Given the description of an element on the screen output the (x, y) to click on. 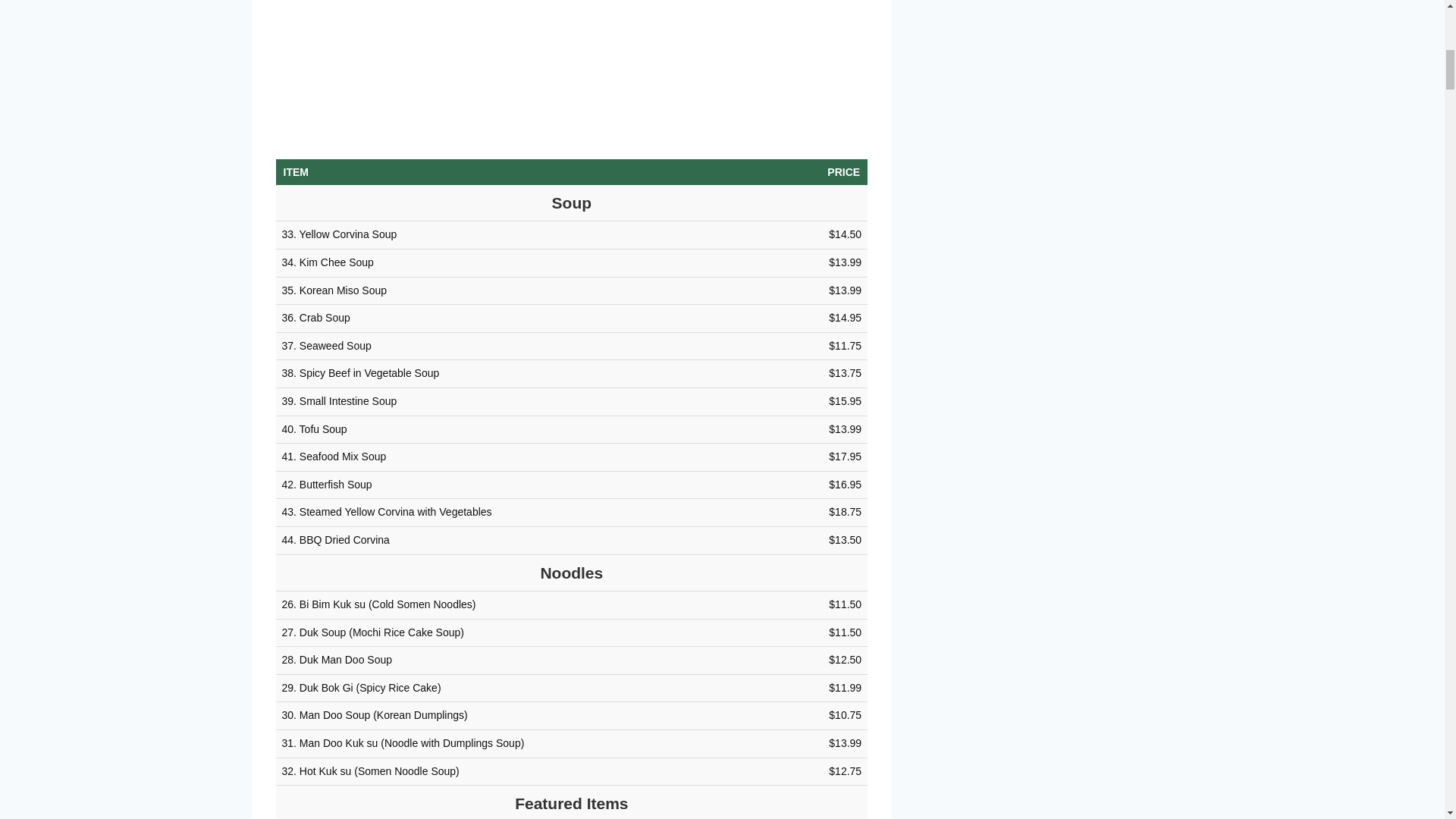
Advertisement (571, 63)
